Given the description of an element on the screen output the (x, y) to click on. 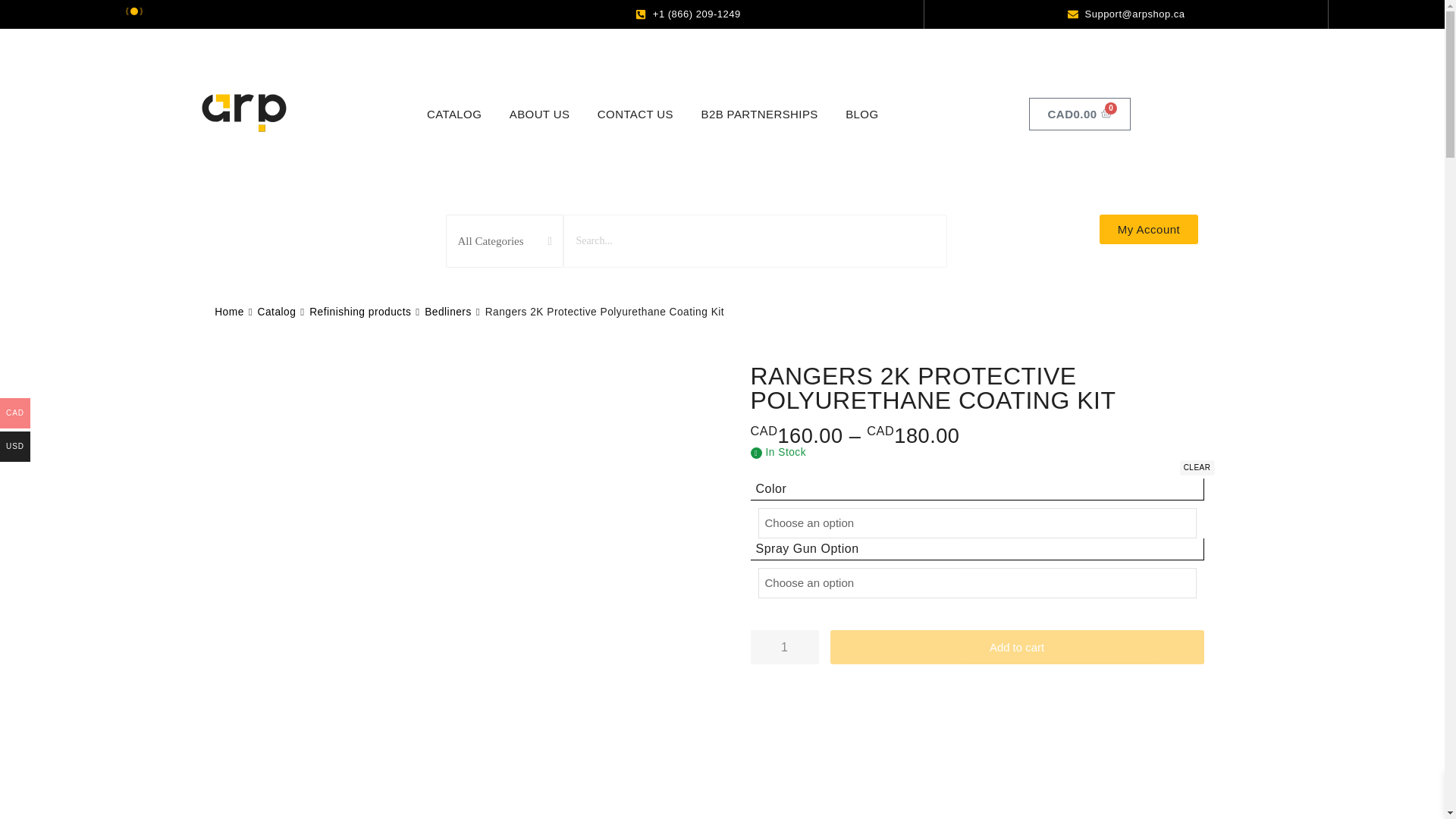
ABOUT US (539, 114)
CONTACT US (635, 114)
BLOG (861, 114)
My Account (1148, 229)
CATALOG (453, 114)
Catalog (277, 311)
B2B PARTNERSHIPS (1080, 113)
Search (759, 114)
Home (754, 240)
